Given the description of an element on the screen output the (x, y) to click on. 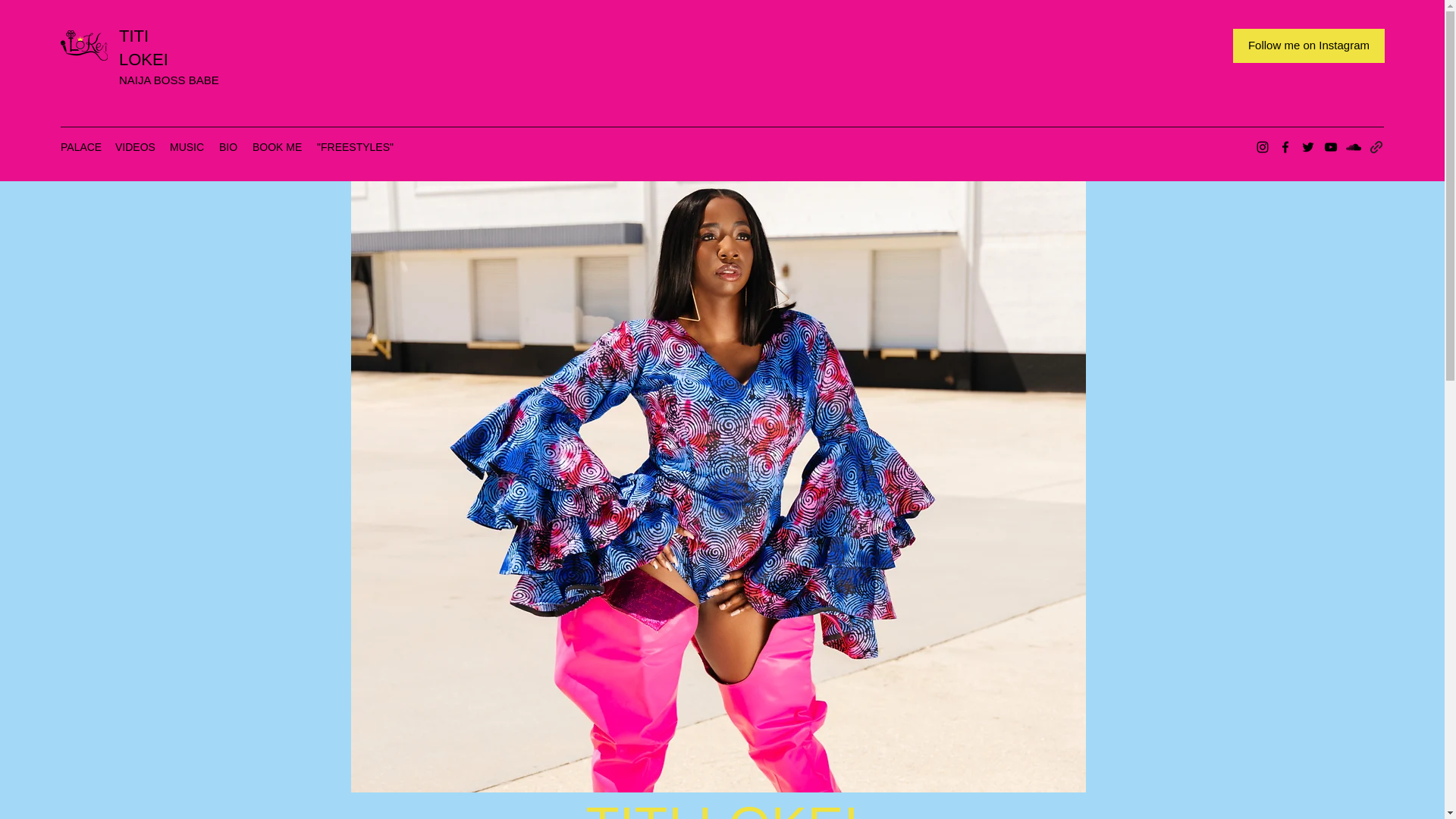
"FREESTYLES" (354, 146)
PALACE (79, 146)
VIDEOS (134, 146)
MUSIC (186, 146)
Follow me on Instagram (1308, 45)
BOOK ME (276, 146)
BIO (227, 146)
